Given the description of an element on the screen output the (x, y) to click on. 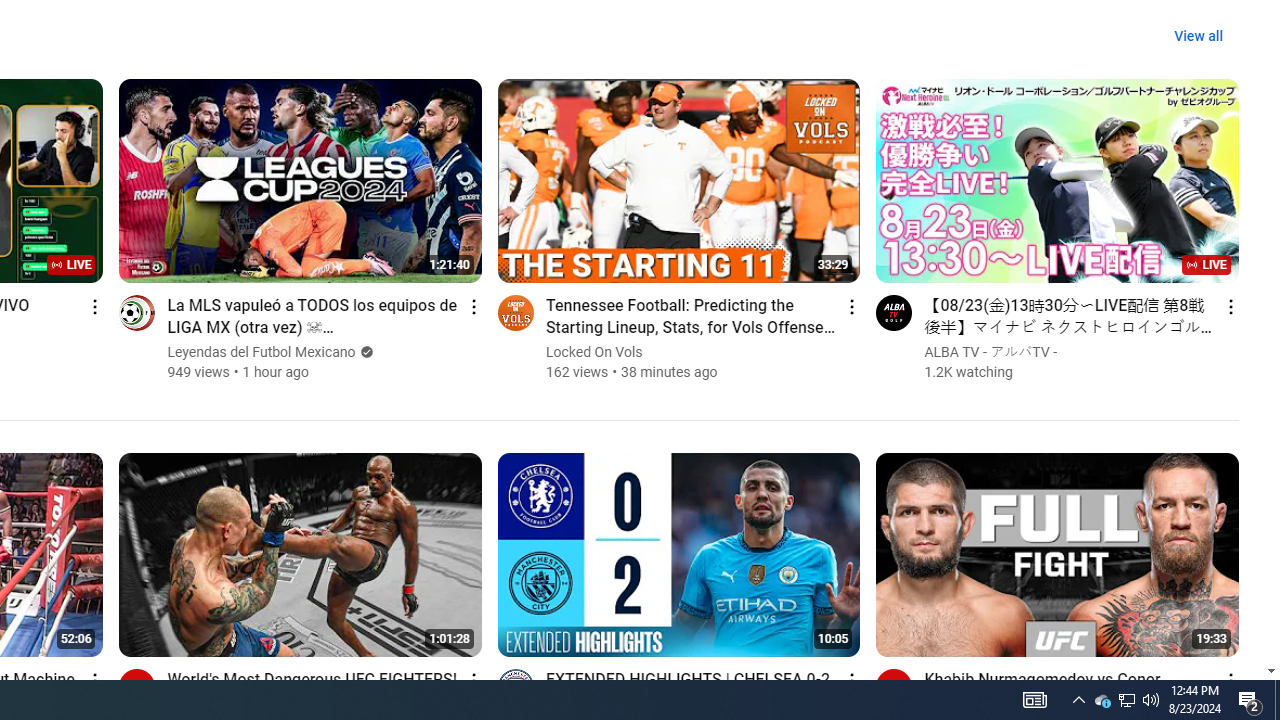
Go to channel (893, 686)
Verified (363, 352)
Locked On Vols (594, 352)
Leyendas del Futbol Mexicano (261, 352)
View all (1198, 36)
Action menu (1229, 680)
